Given the description of an element on the screen output the (x, y) to click on. 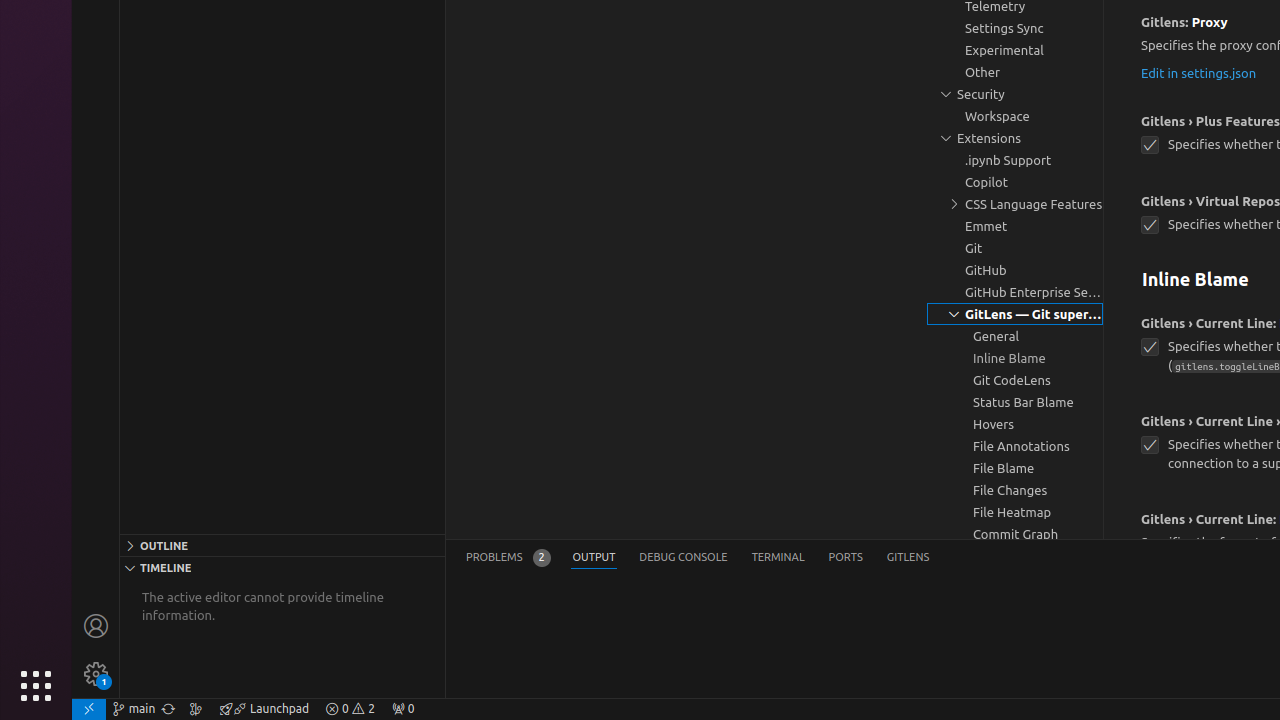
Ports Element type: page-tab (845, 557)
Other, group Element type: tree-item (1015, 72)
remote Element type: push-button (89, 709)
GitHub Enterprise Server Authentication Provider, group Element type: tree-item (1015, 292)
